Given the description of an element on the screen output the (x, y) to click on. 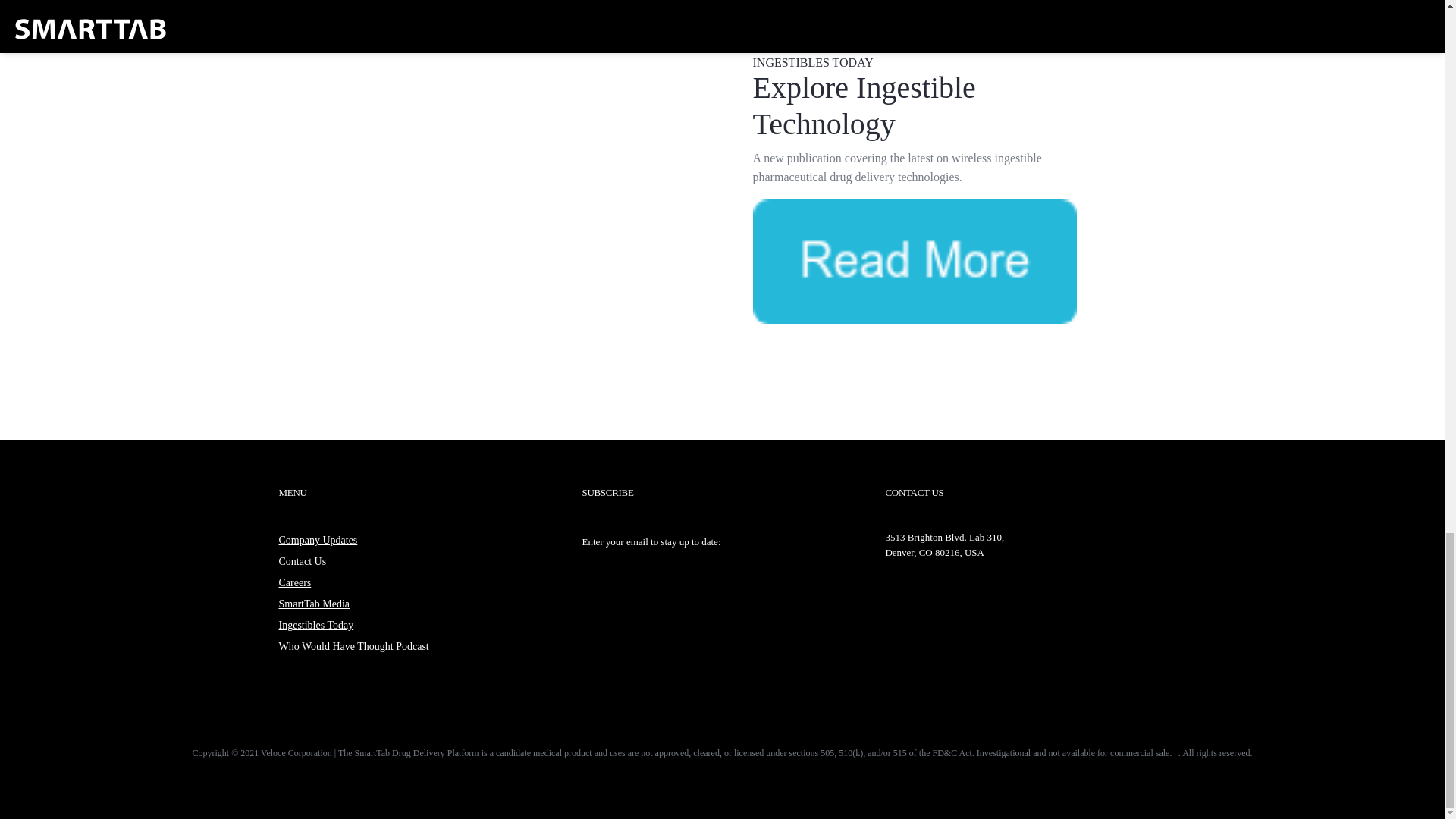
IT-Cover-v2 (545, 186)
SmartTab Media (314, 603)
Who Would Have Thought Podcast (354, 645)
Ingestibles Today (316, 624)
Company Updates (318, 540)
Contact Us (302, 561)
Careers (295, 582)
